Given the description of an element on the screen output the (x, y) to click on. 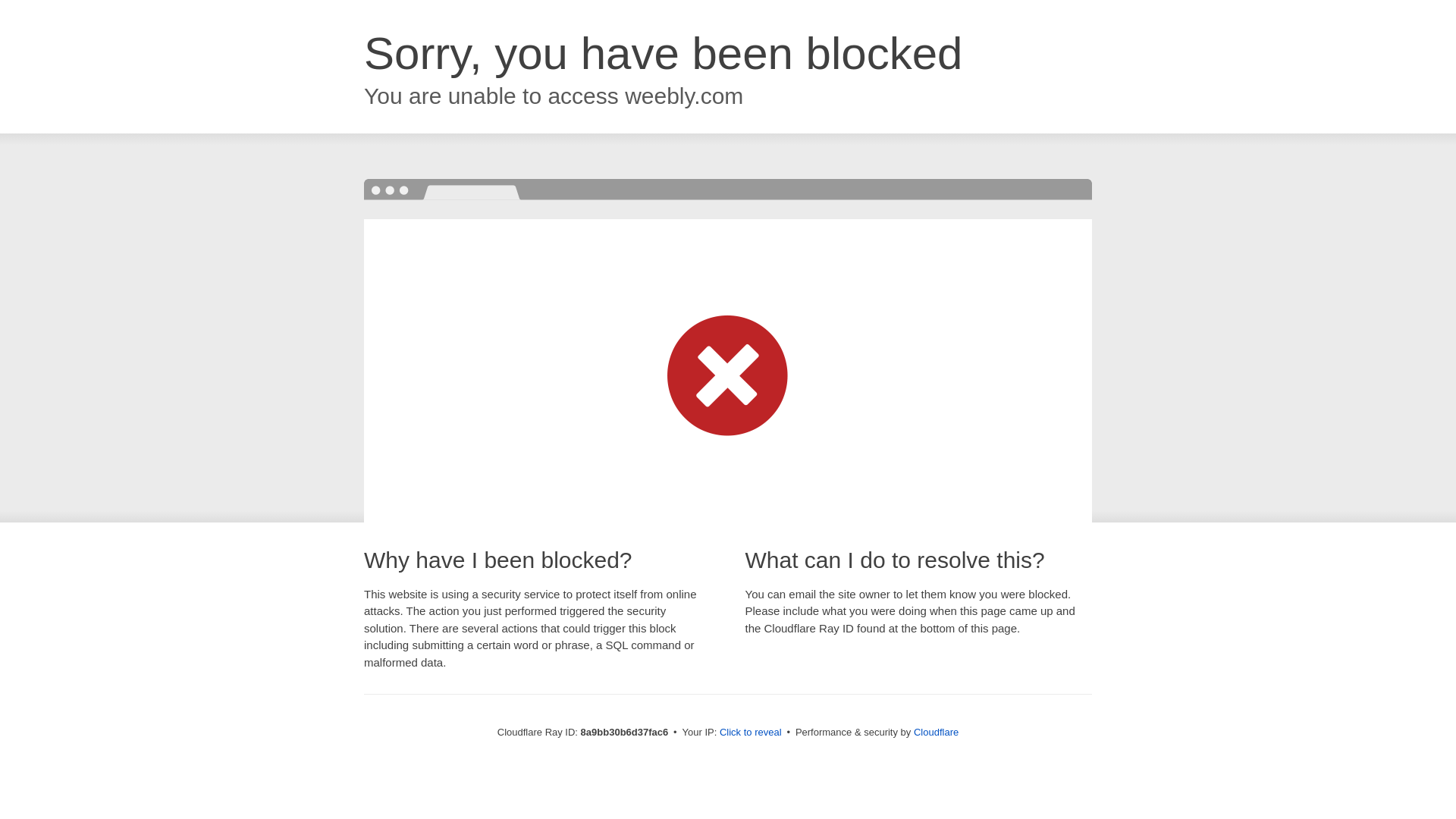
Click to reveal (750, 732)
Cloudflare (936, 731)
